Given the description of an element on the screen output the (x, y) to click on. 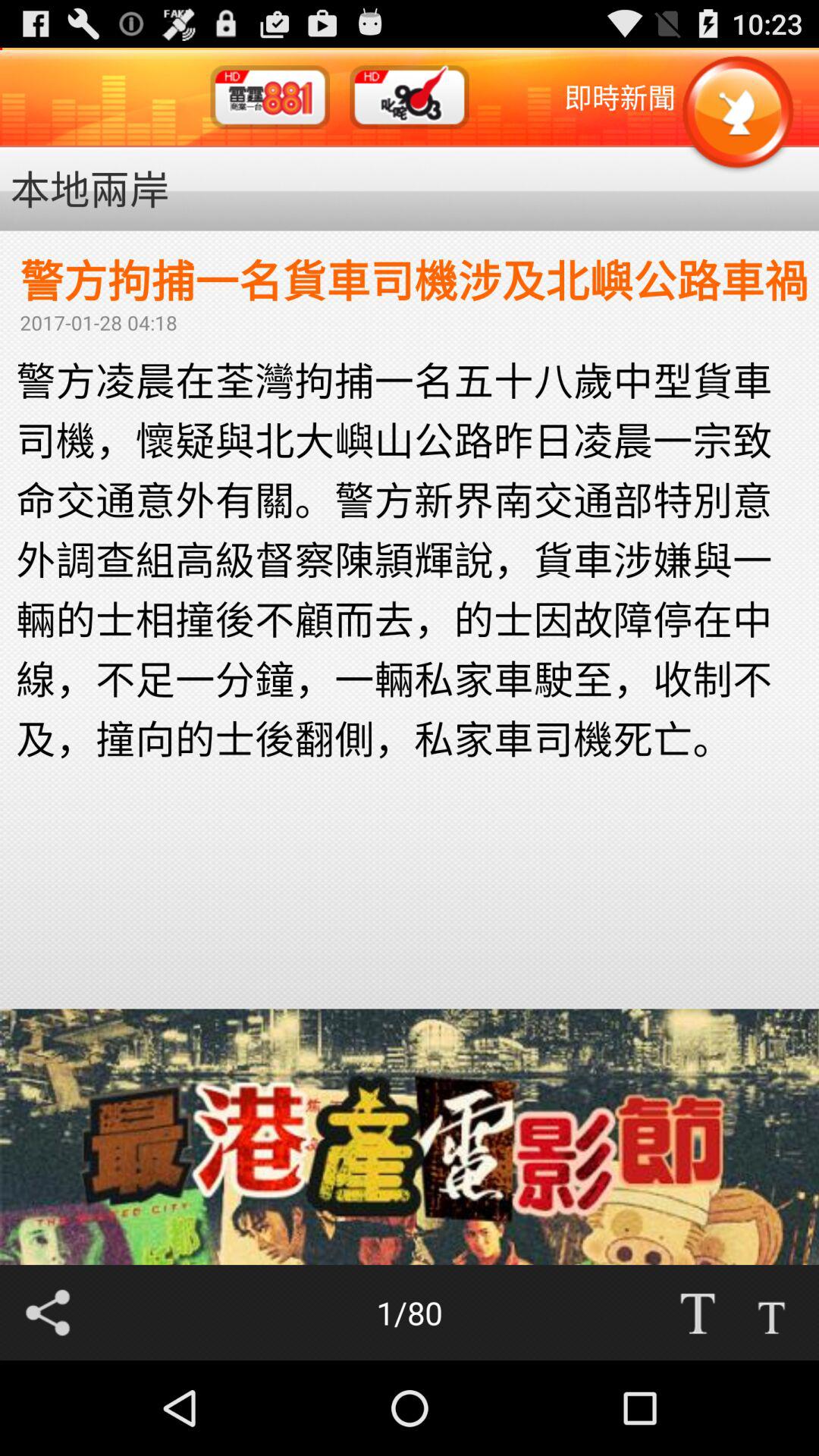
makes text smaller (771, 1312)
